Given the description of an element on the screen output the (x, y) to click on. 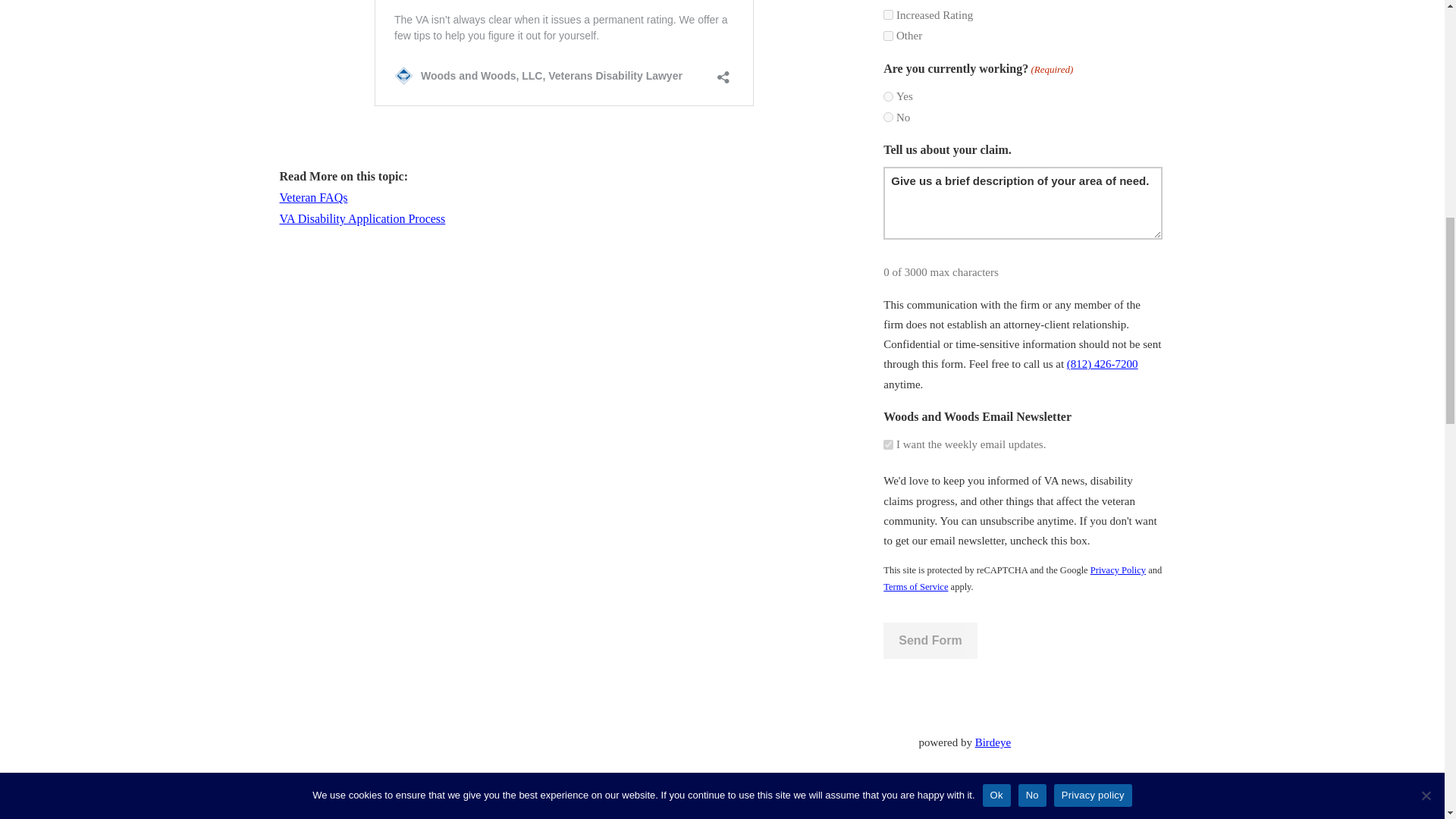
Send Form (929, 640)
I want the weekly email updates. (888, 444)
Send Form (929, 640)
Veteran FAQs (313, 196)
Other (888, 35)
VA Disability Application Process (362, 218)
Terms of Service (915, 586)
Yes (888, 96)
Birdeye (992, 742)
Privacy Policy (1117, 570)
Increased Rating (888, 14)
No (888, 117)
